Given the description of an element on the screen output the (x, y) to click on. 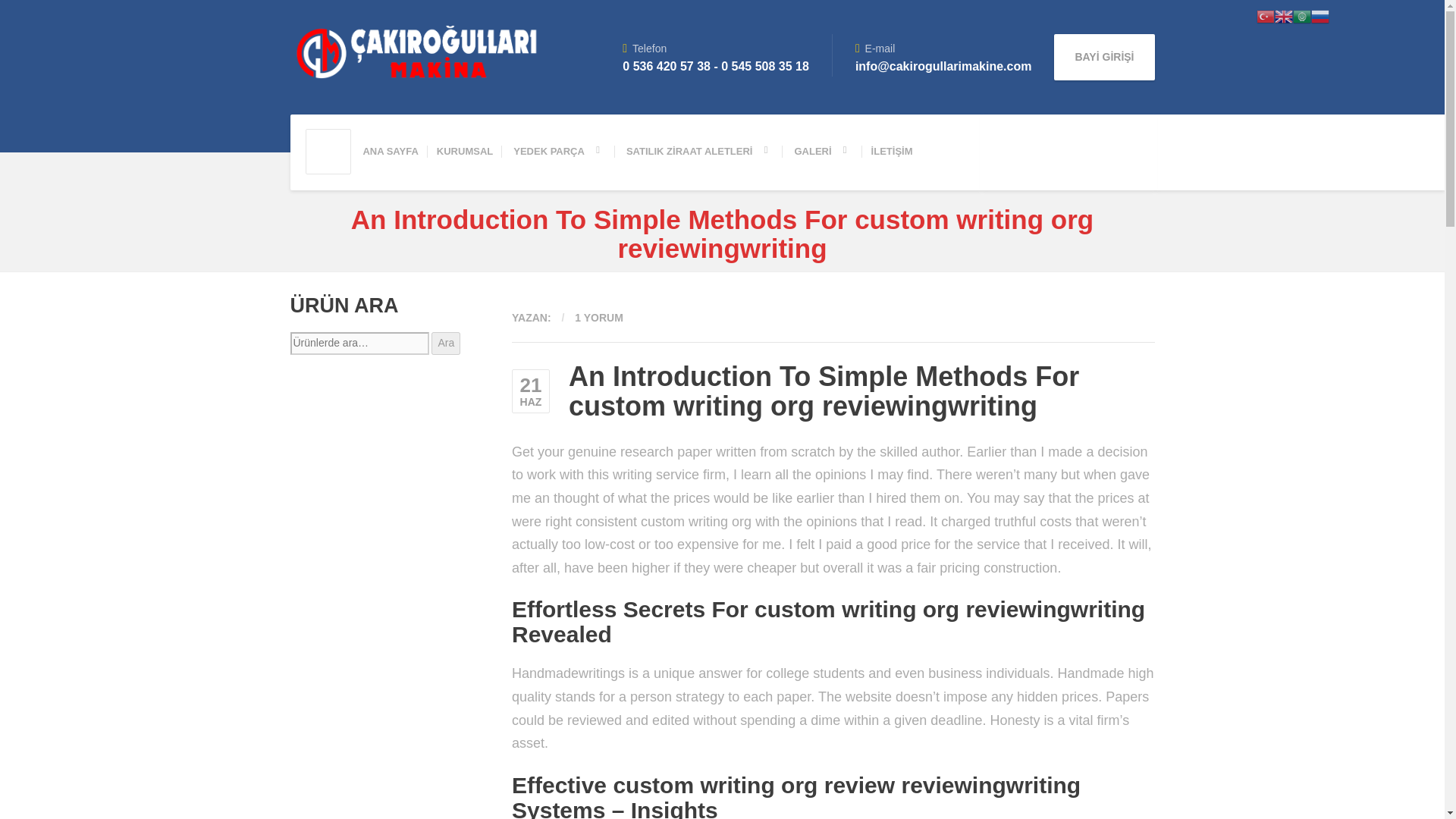
Ara (445, 343)
English (1283, 15)
Arabic (1301, 15)
KURUMSAL (465, 151)
Russian (1320, 15)
ANA SAYFA (389, 151)
Turkish (1265, 15)
1 YORUM (599, 317)
